Given the description of an element on the screen output the (x, y) to click on. 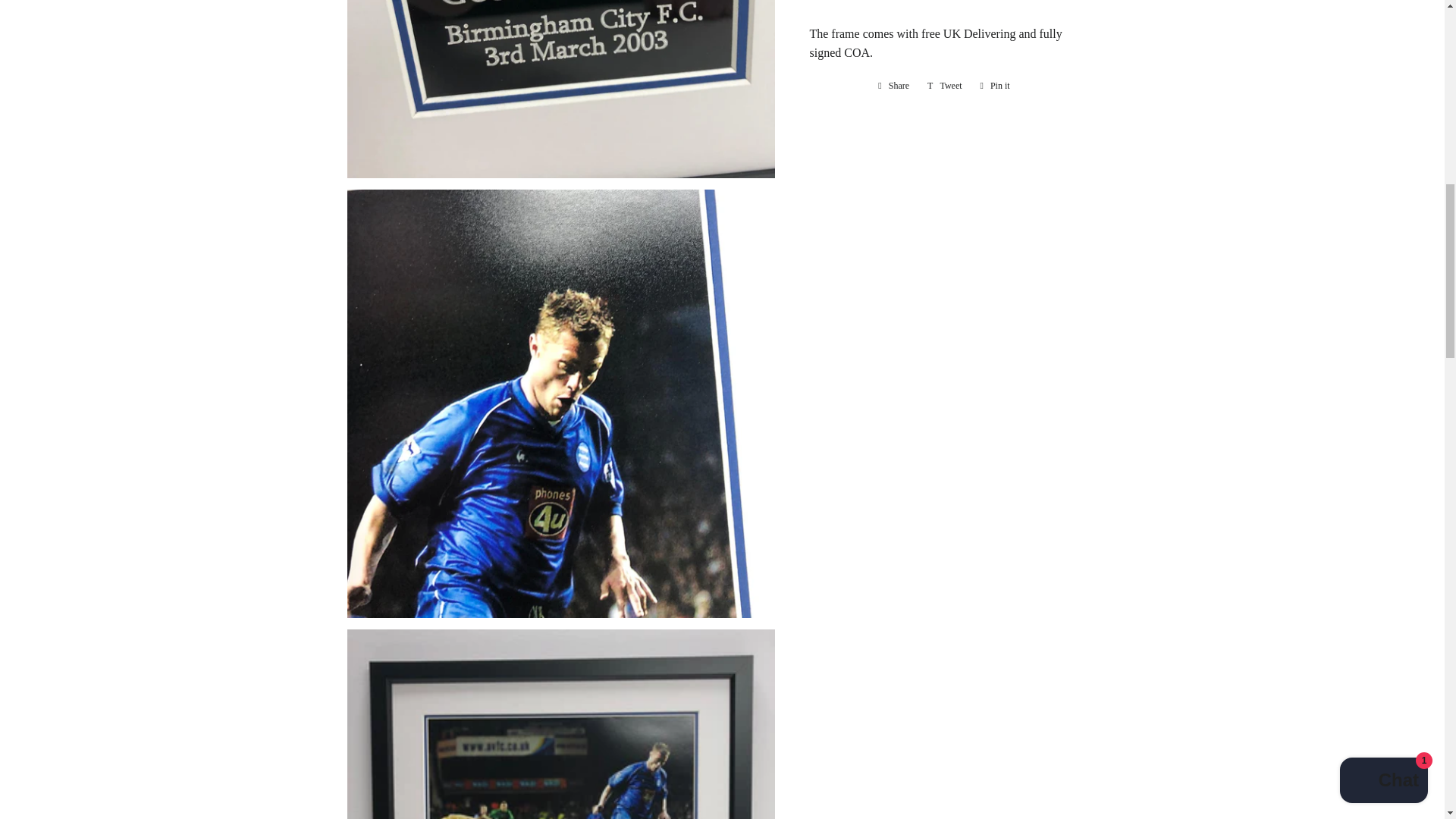
Tweet on Twitter (944, 85)
Share on Facebook (893, 85)
Pin on Pinterest (994, 85)
